Given the description of an element on the screen output the (x, y) to click on. 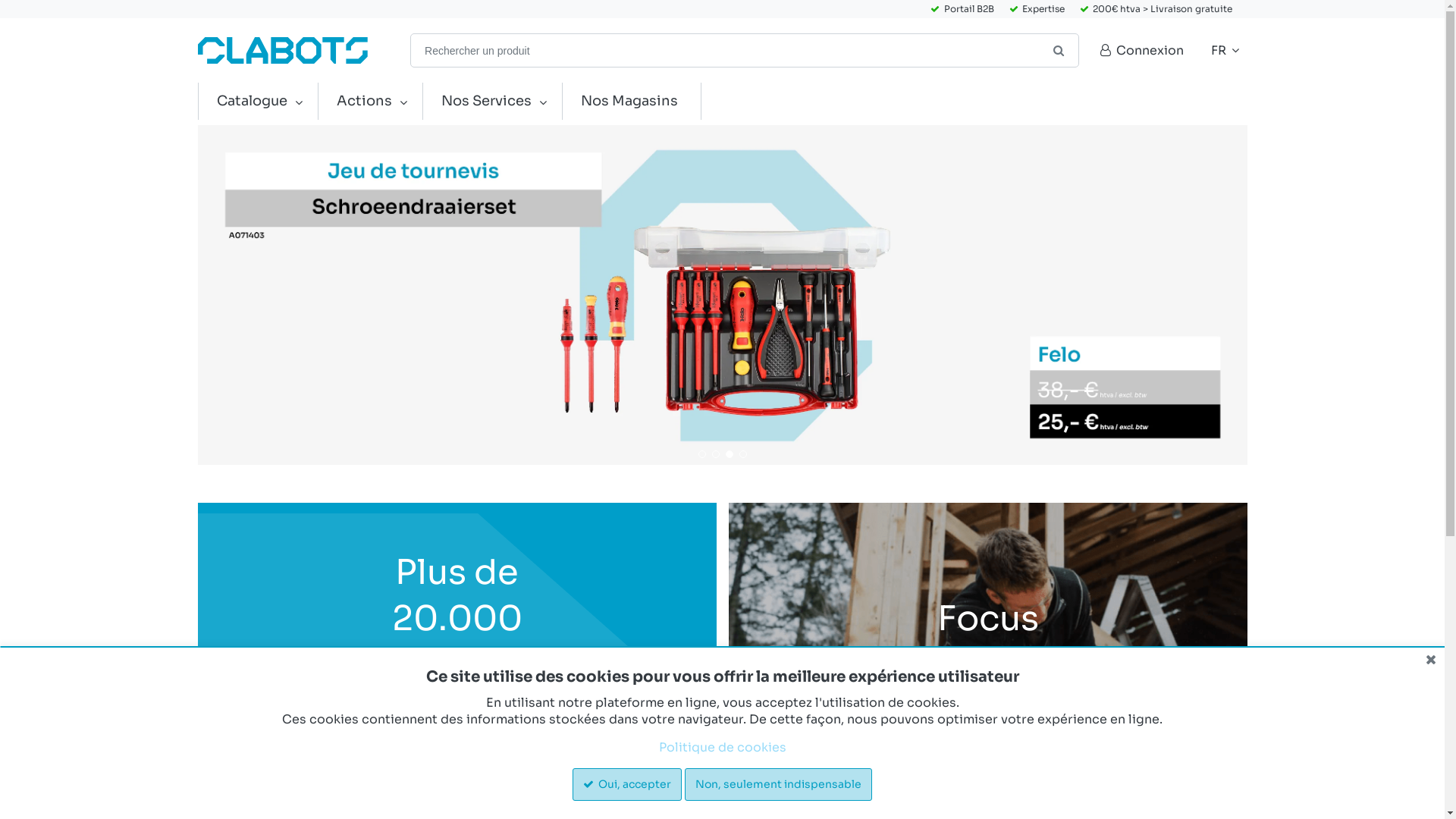
Nos Services Element type: text (488, 100)
2 Element type: text (714, 454)
Fermer Element type: hover (1430, 659)
Connexion Element type: text (1141, 50)
4 Element type: text (742, 454)
Nos Magasins Element type: text (631, 100)
Nos produits Element type: text (457, 765)
Politique de cookies Element type: text (721, 747)
Expertise Element type: text (1035, 9)
Non, seulement indispensable Element type: text (778, 784)
Actions Element type: text (366, 100)
3 Element type: text (728, 454)
Catalogue Element type: text (254, 100)
1 Element type: text (701, 454)
Oui, accepter Element type: text (626, 784)
